Given the description of an element on the screen output the (x, y) to click on. 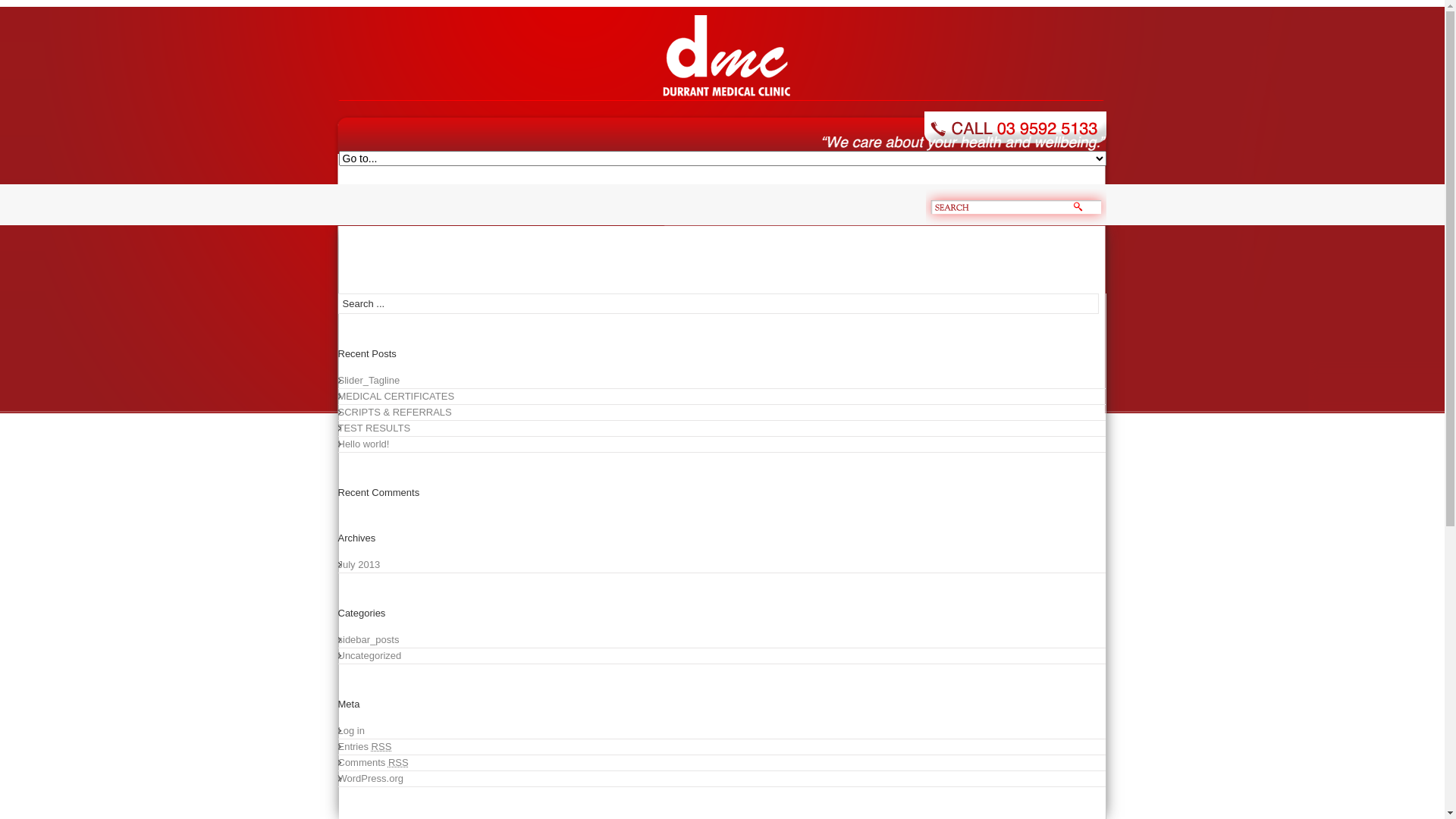
July 2013 Element type: text (721, 565)
Comments RSS Element type: text (721, 763)
WordPress.org Element type: text (721, 779)
sidebar_posts Element type: text (721, 640)
Entries RSS Element type: text (721, 747)
Slider_Tagline Element type: text (721, 381)
SCRIPTS & REFERRALS Element type: text (721, 412)
Log in Element type: text (721, 731)
Hello world! Element type: text (721, 444)
TEST RESULTS Element type: text (721, 428)
MEDICAL CERTIFICATES Element type: text (721, 396)
Uncategorized Element type: text (721, 656)
search Element type: text (1077, 206)
